Given the description of an element on the screen output the (x, y) to click on. 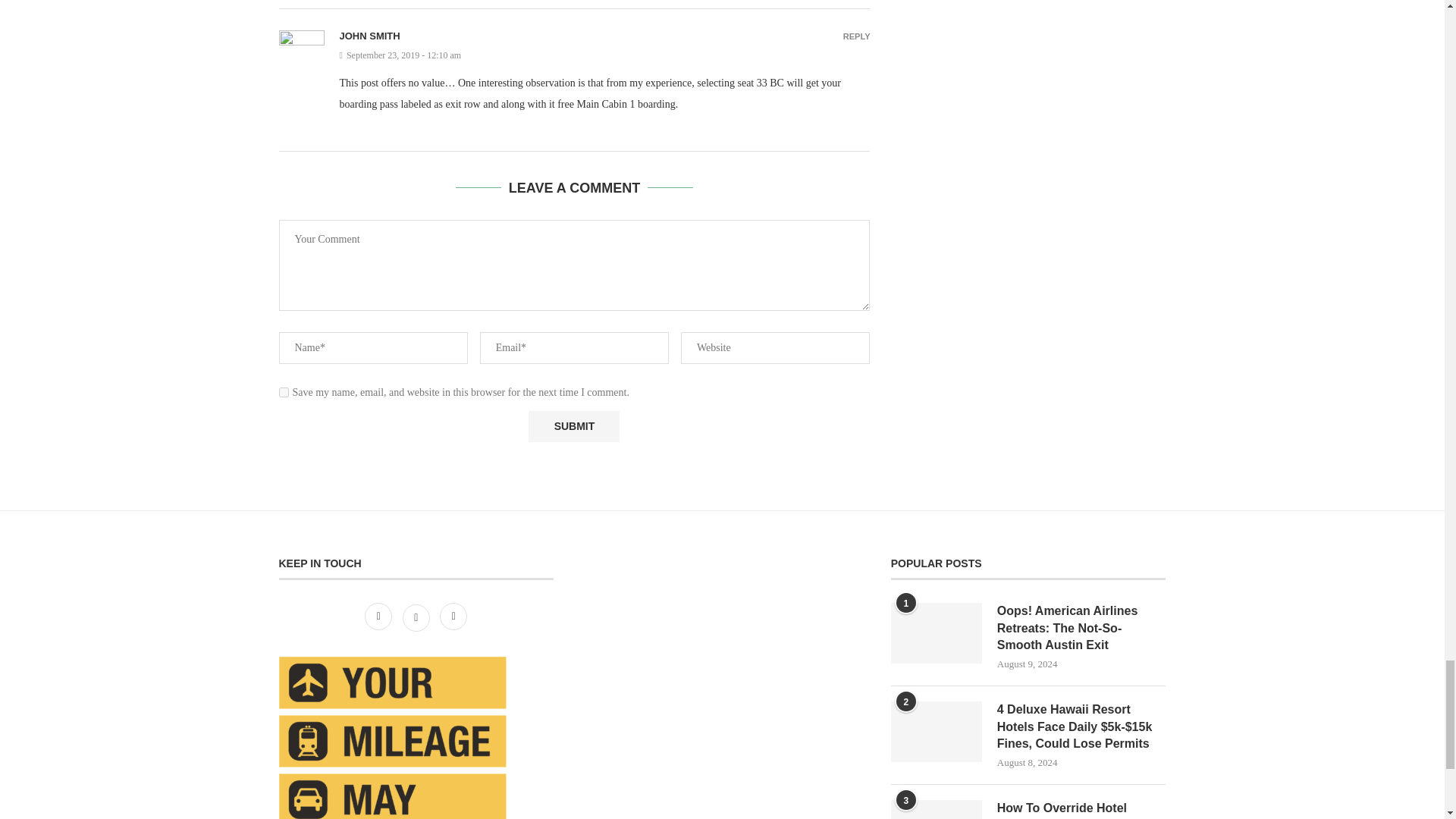
yes (283, 392)
Monday, September 23, 2019, 12:10 am (604, 55)
Submit (574, 426)
